Given the description of an element on the screen output the (x, y) to click on. 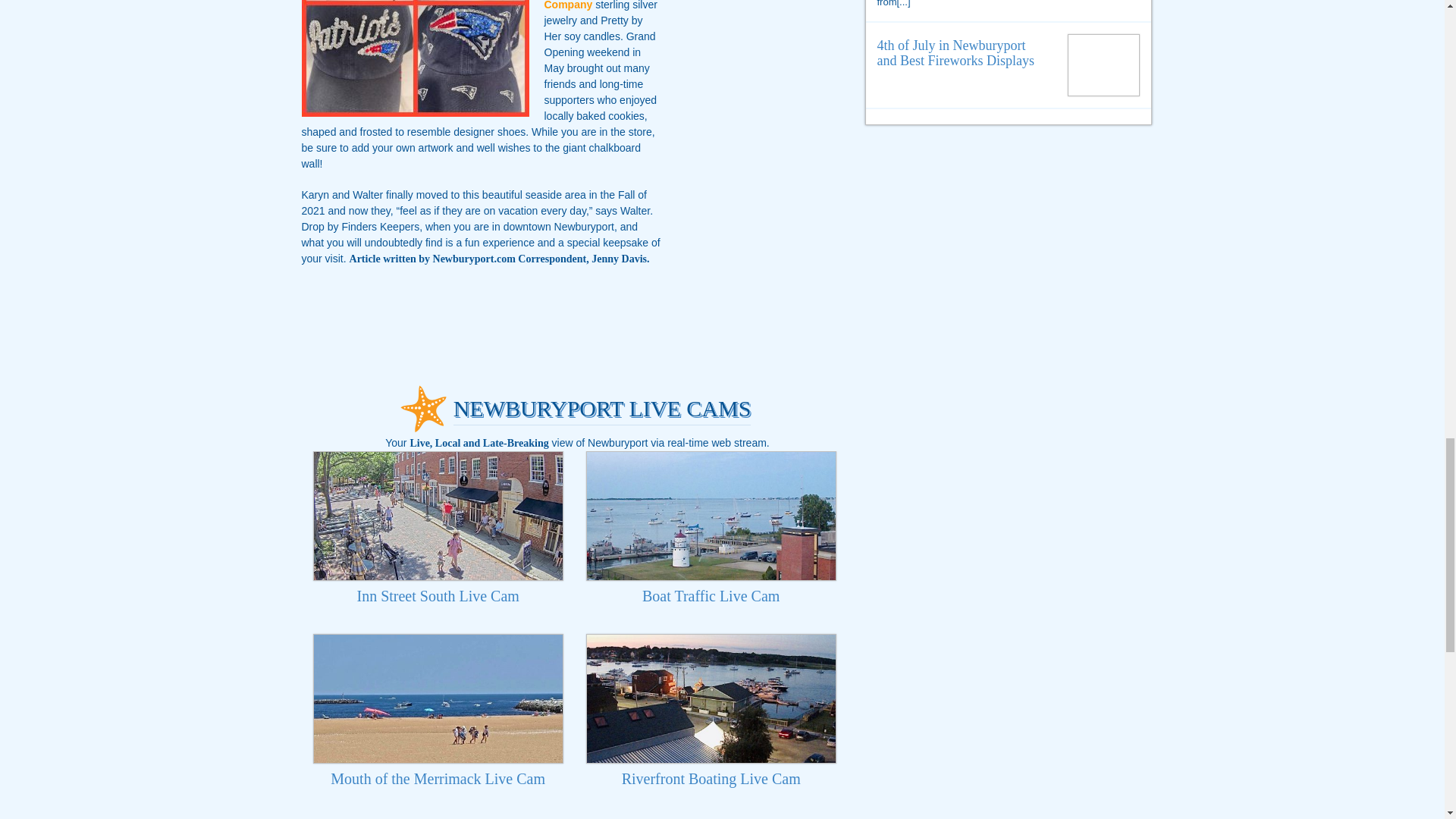
Fireworks in Portsmouth NH (1104, 61)
